Given the description of an element on the screen output the (x, y) to click on. 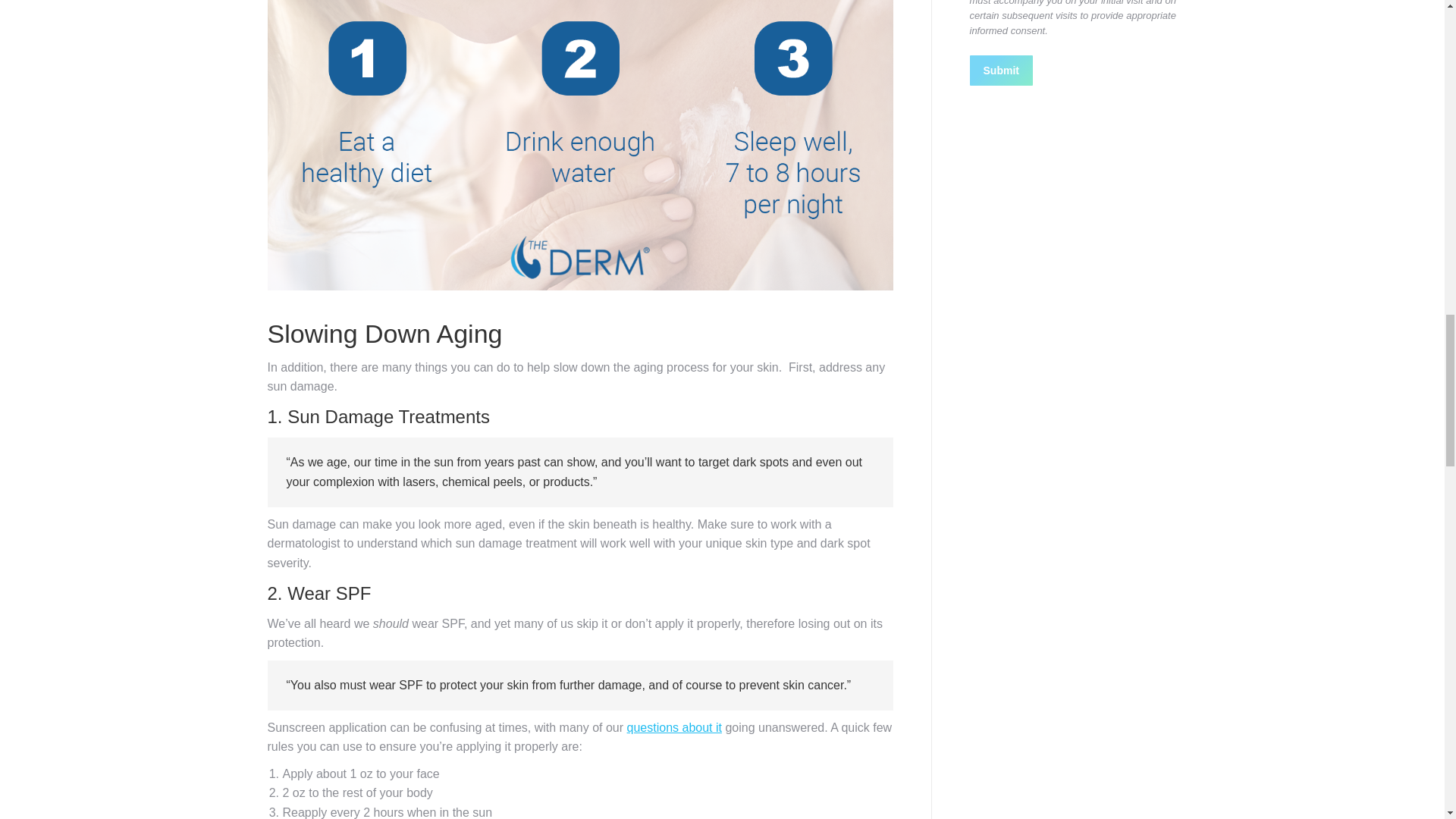
Submit (1000, 70)
